Given the description of an element on the screen output the (x, y) to click on. 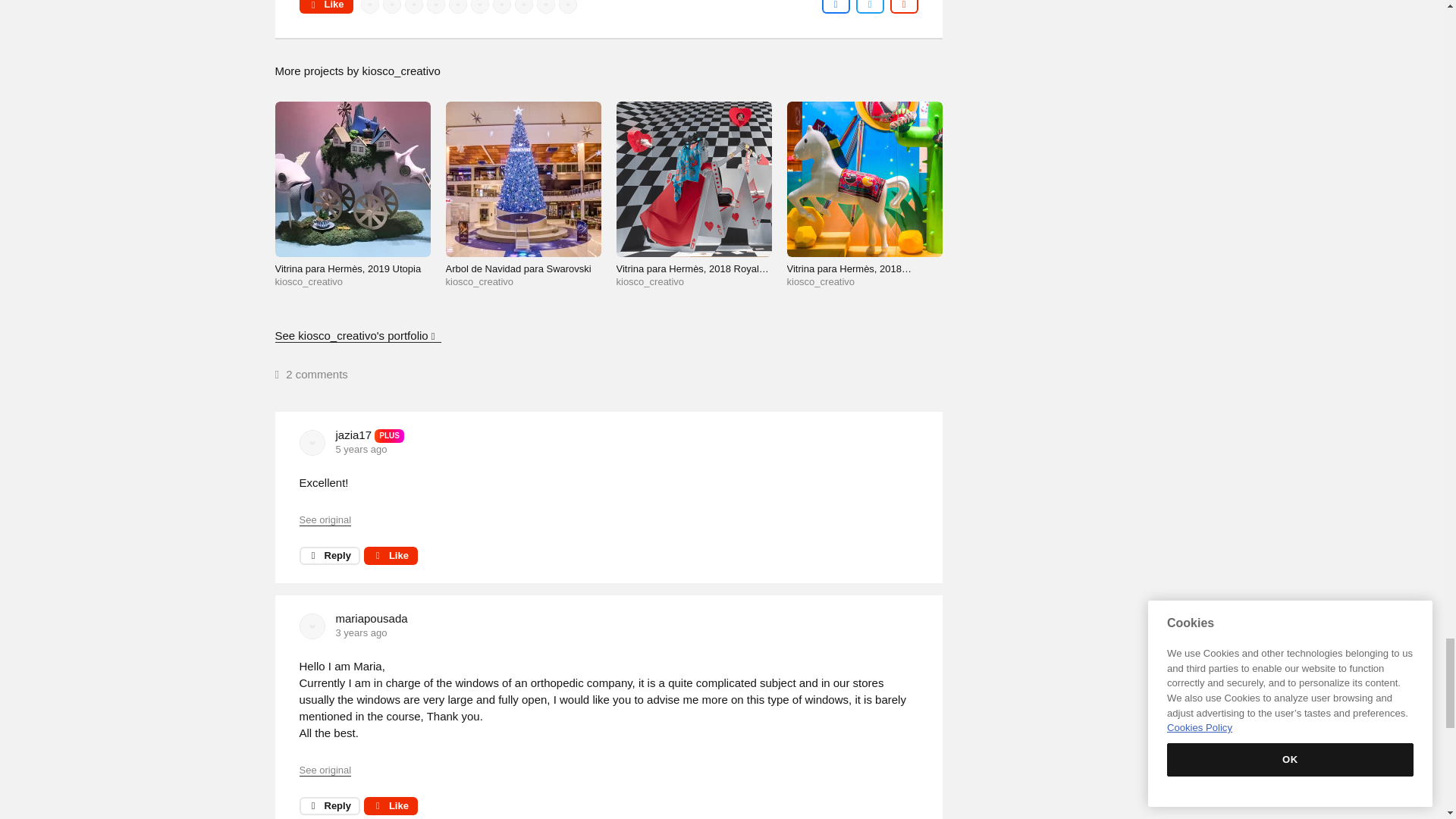
Alexander Pulido meralla (523, 6)
Ariel Fajardo (457, 6)
mariapousada (311, 626)
Gabriela Granucci Chen (436, 6)
Sol Charlotte (414, 6)
18.10.2019 at 15:35 (360, 449)
jazia17 (311, 442)
Erick Robert Asprilla Flores (392, 6)
Emily Corrales (567, 6)
Lorena Cereijo (369, 6)
Alberto Padierna Quintana (545, 6)
28.11.2021 at 23:25 (360, 632)
Nadia Beltran de Lubiano (479, 6)
